Given the description of an element on the screen output the (x, y) to click on. 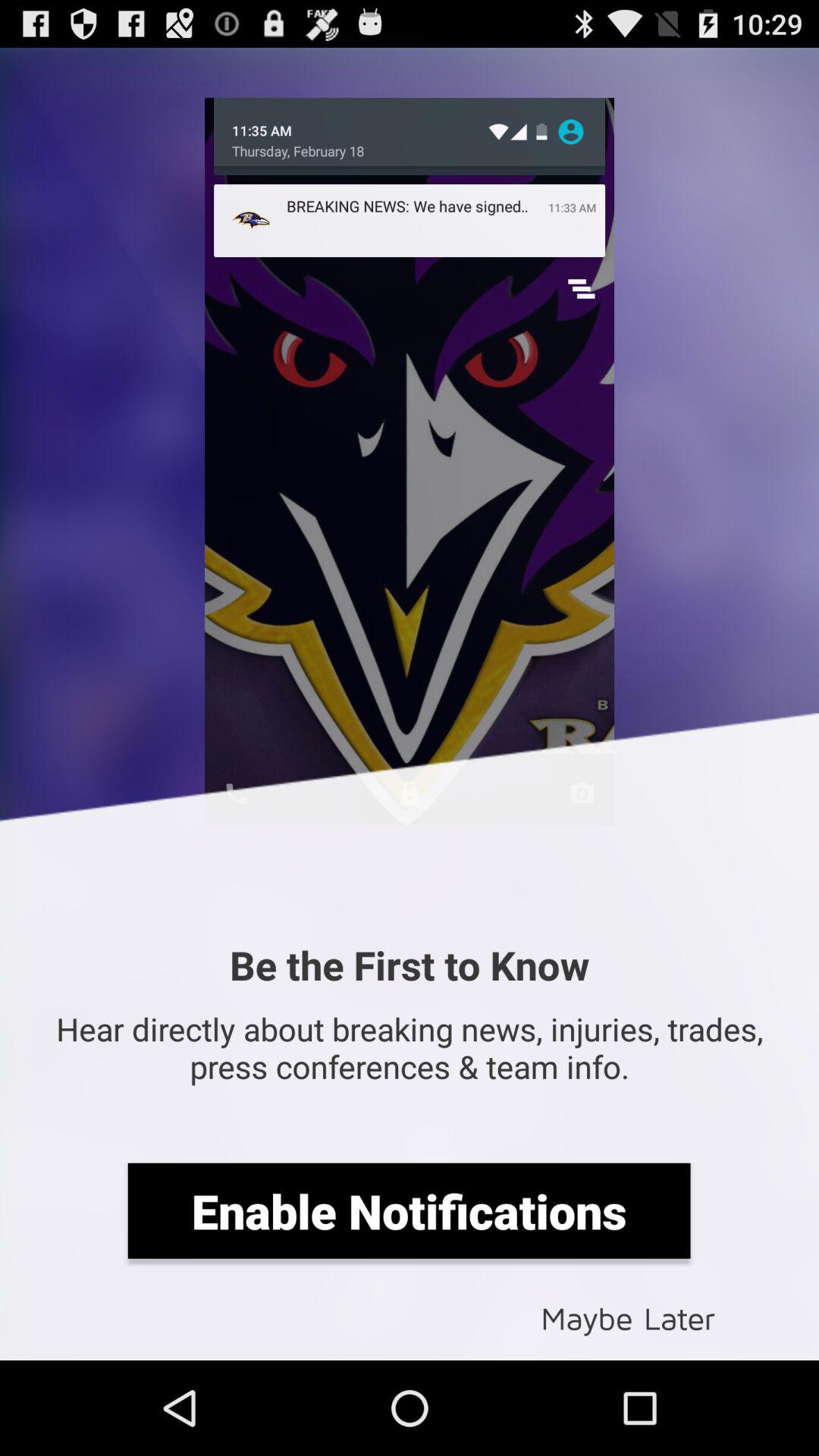
turn off the icon below hear directly about icon (408, 1210)
